Given the description of an element on the screen output the (x, y) to click on. 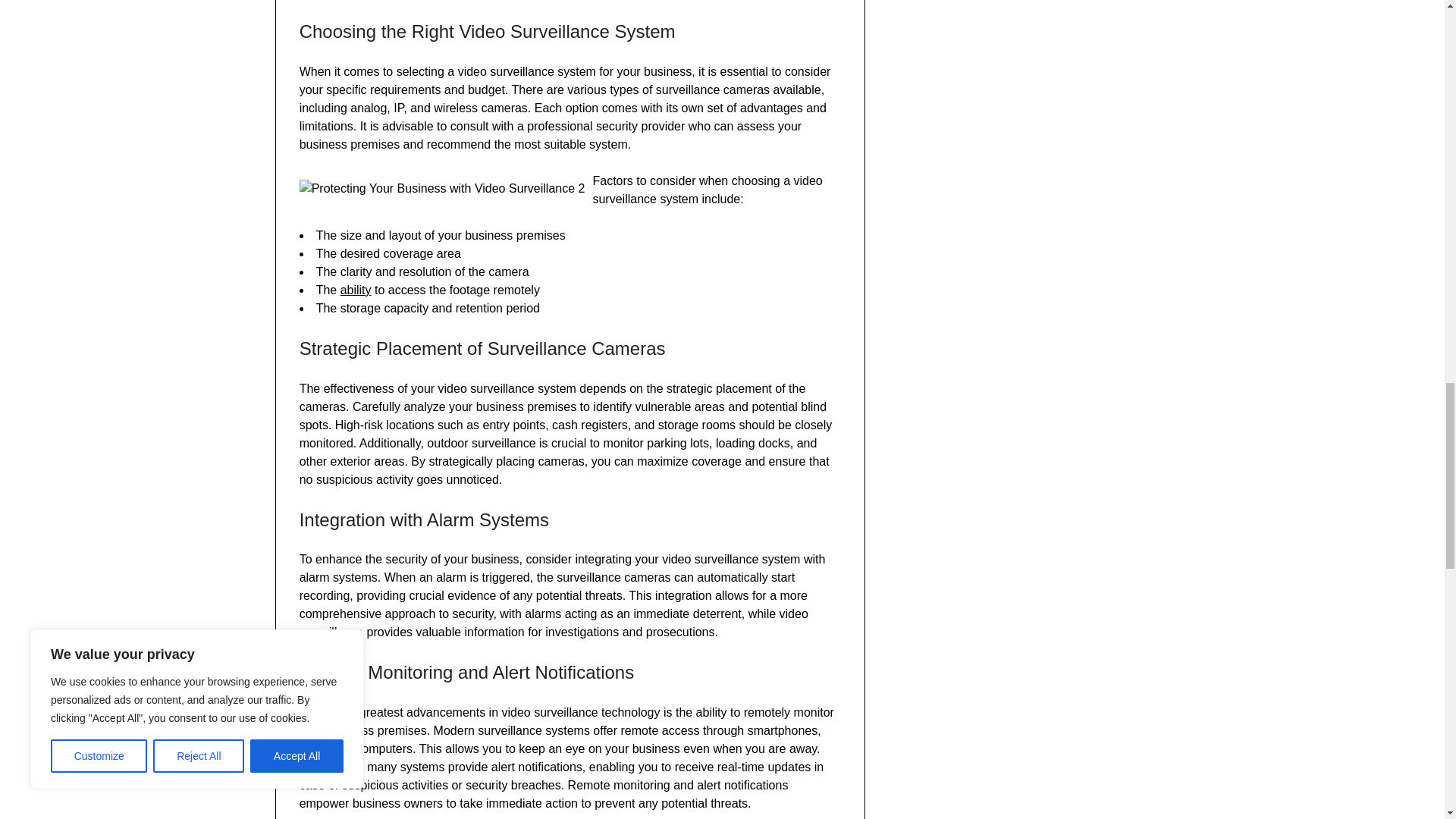
ability (355, 289)
